Given the description of an element on the screen output the (x, y) to click on. 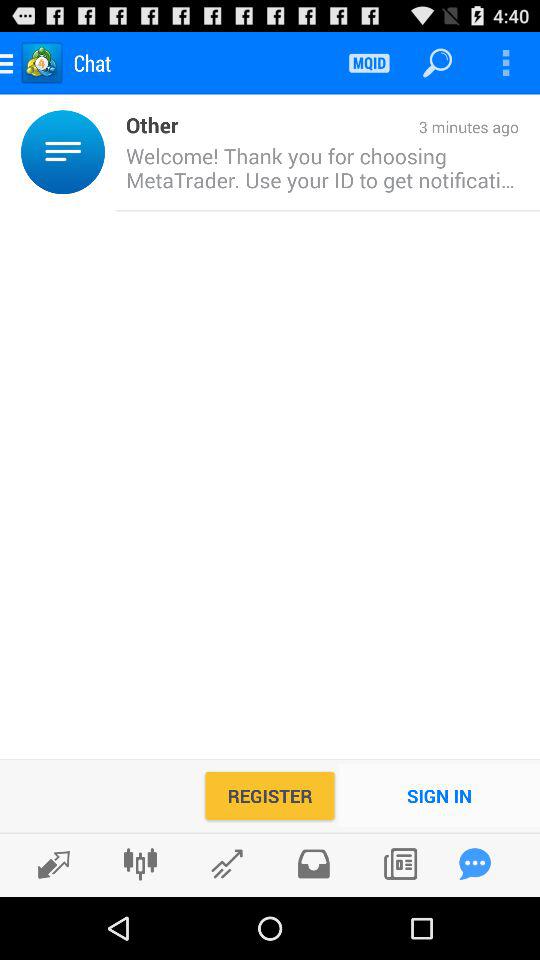
trending posts (226, 863)
